Given the description of an element on the screen output the (x, y) to click on. 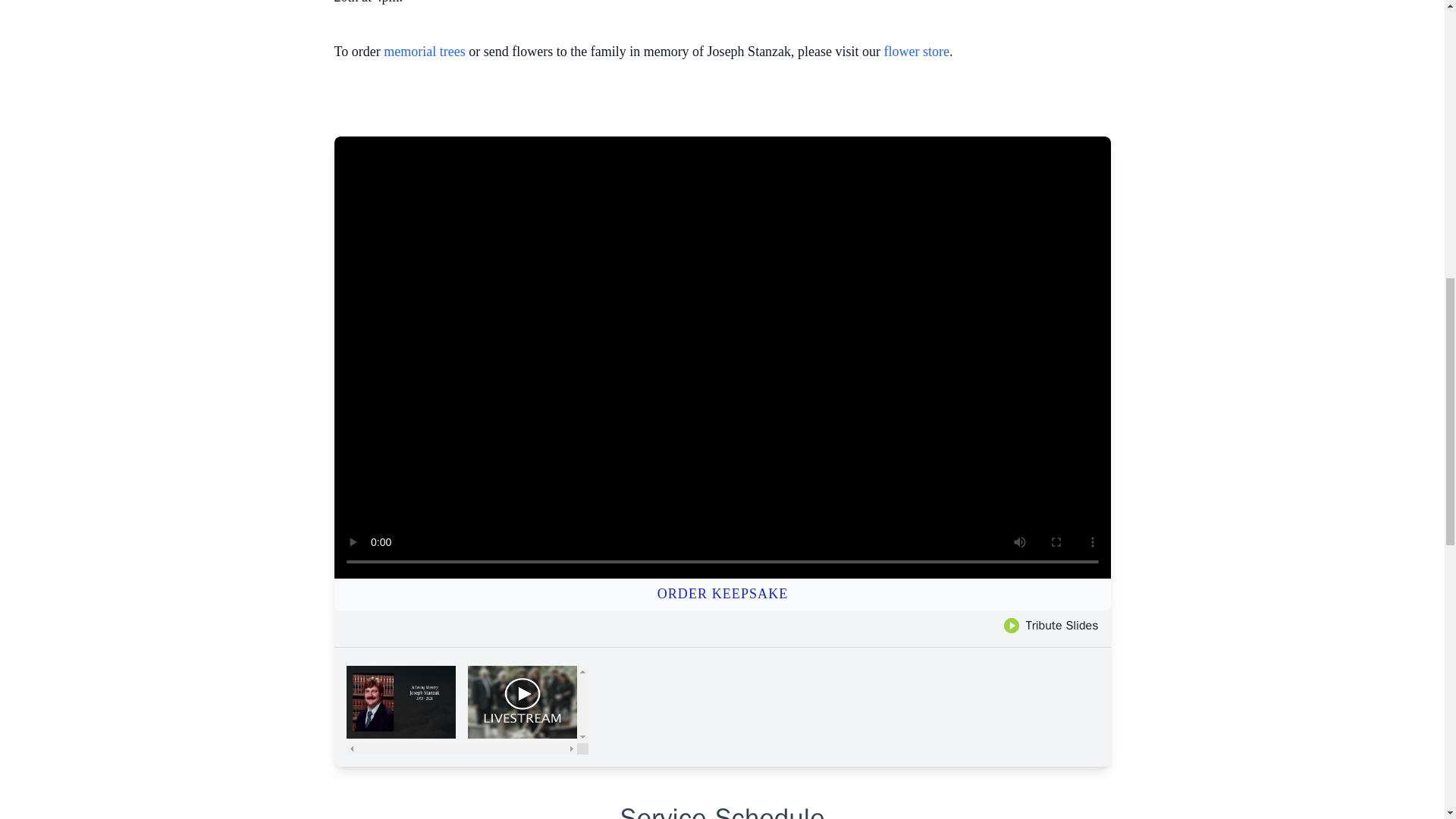
flower store (916, 51)
memorial trees (424, 51)
